Given the description of an element on the screen output the (x, y) to click on. 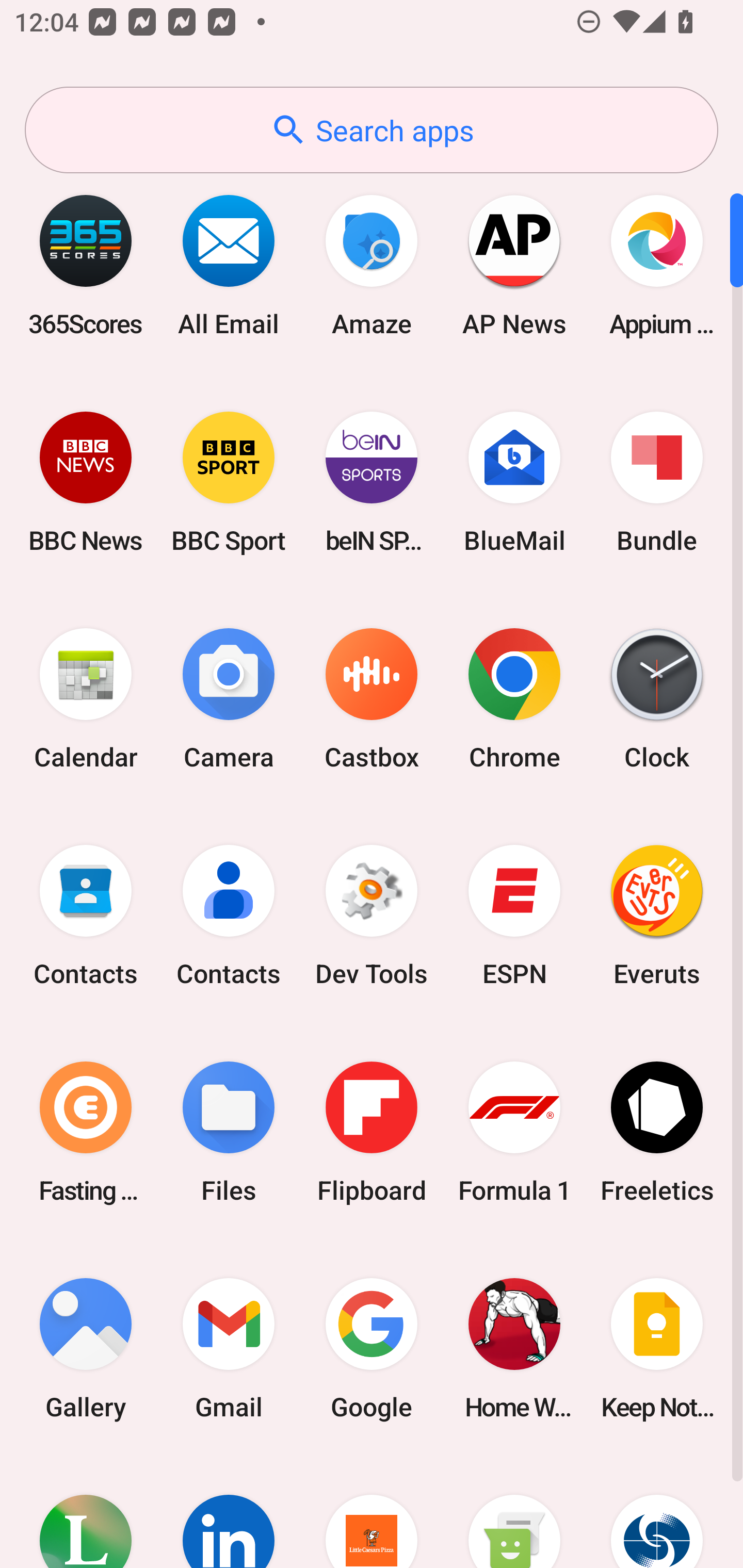
  Search apps (371, 130)
365Scores (85, 264)
All Email (228, 264)
Amaze (371, 264)
AP News (514, 264)
Appium Settings (656, 264)
BBC News (85, 482)
BBC Sport (228, 482)
beIN SPORTS (371, 482)
BlueMail (514, 482)
Bundle (656, 482)
Calendar (85, 699)
Camera (228, 699)
Castbox (371, 699)
Chrome (514, 699)
Clock (656, 699)
Contacts (85, 915)
Contacts (228, 915)
Dev Tools (371, 915)
ESPN (514, 915)
Everuts (656, 915)
Fasting Coach (85, 1131)
Files (228, 1131)
Flipboard (371, 1131)
Formula 1 (514, 1131)
Freeletics (656, 1131)
Gallery (85, 1348)
Gmail (228, 1348)
Google (371, 1348)
Home Workout (514, 1348)
Keep Notes (656, 1348)
